Given the description of an element on the screen output the (x, y) to click on. 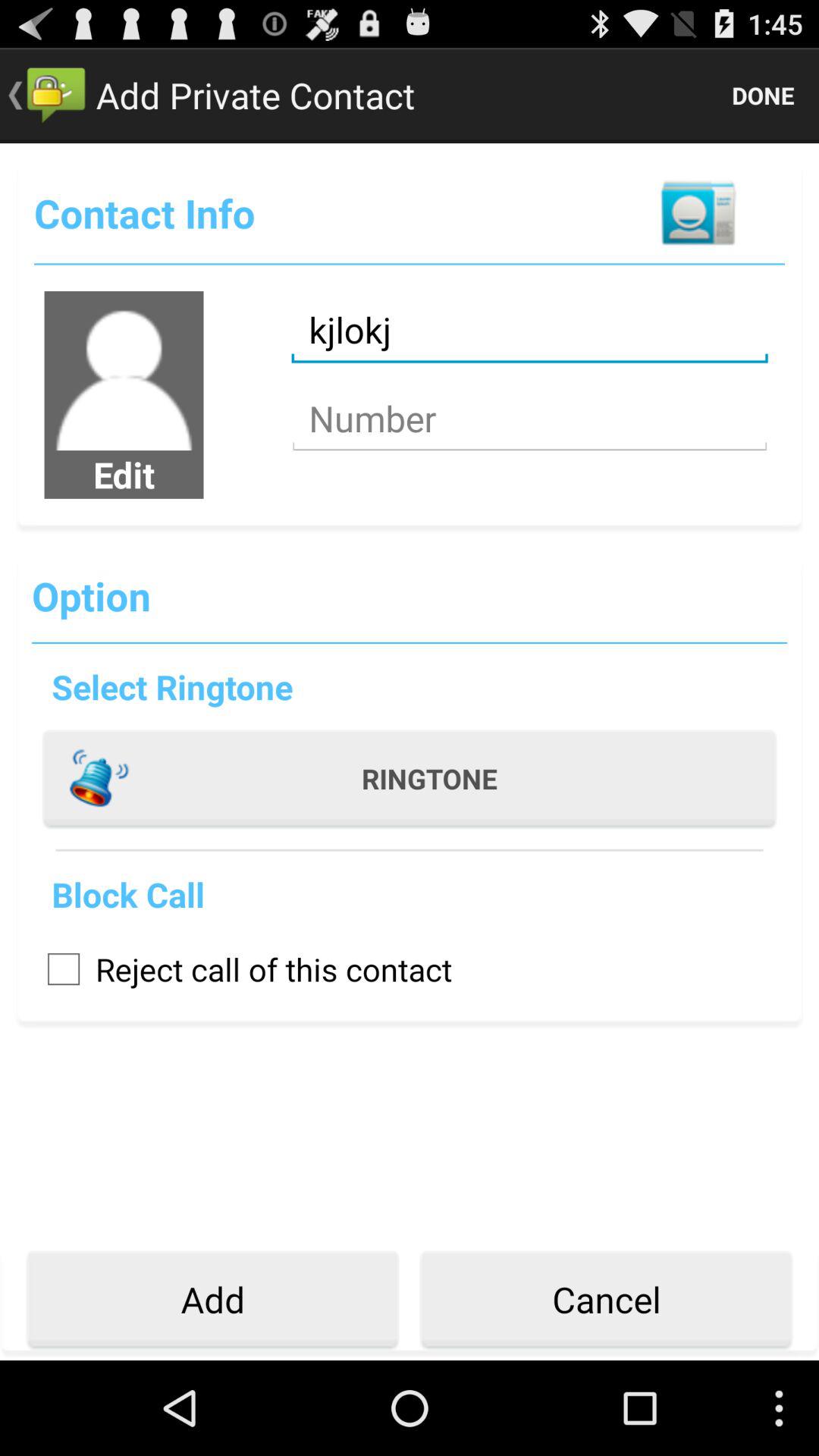
swipe until cancel item (605, 1300)
